Given the description of an element on the screen output the (x, y) to click on. 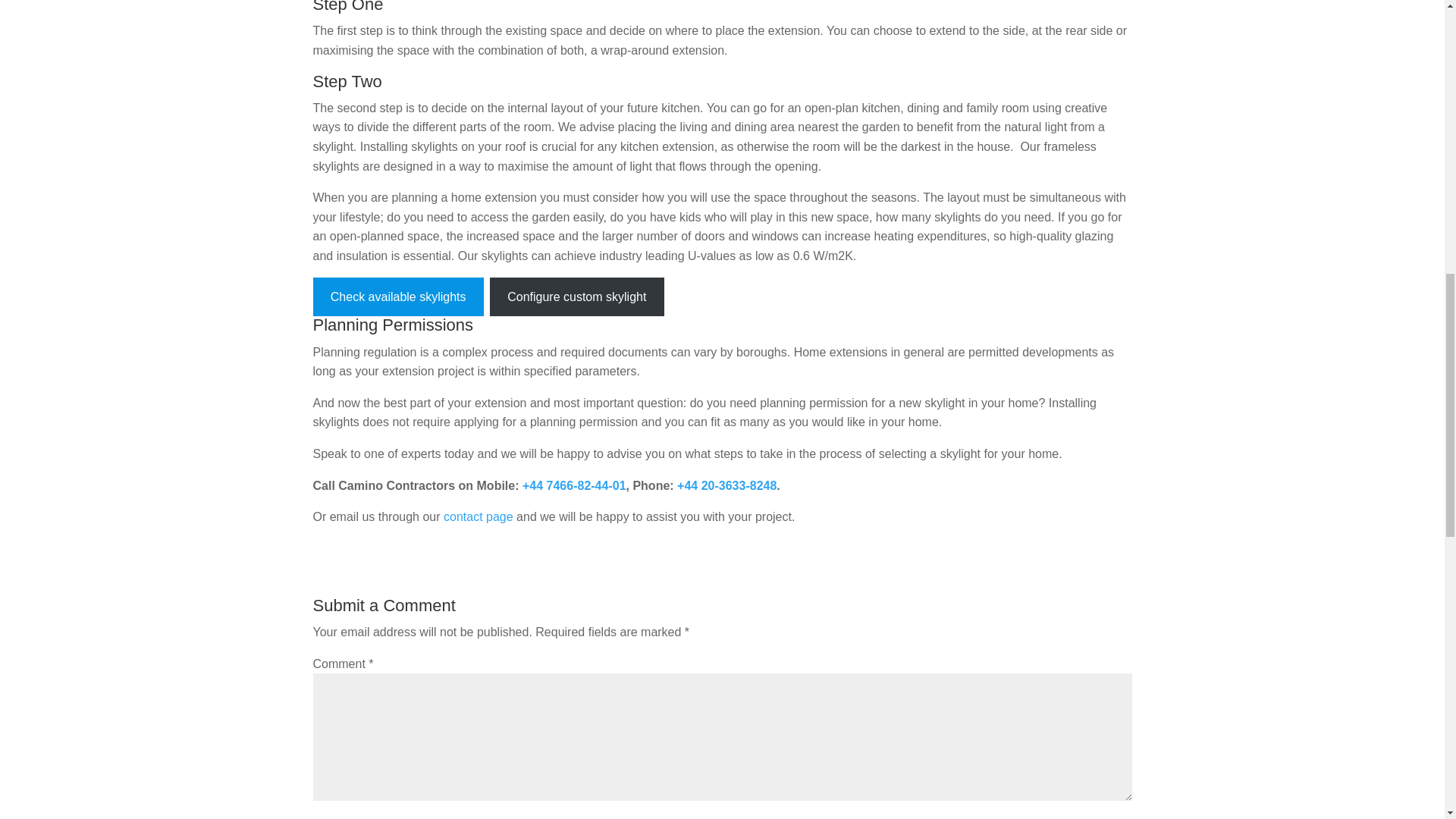
Check available skylights (398, 296)
contact page (477, 516)
Configure custom skylight (576, 296)
